Given the description of an element on the screen output the (x, y) to click on. 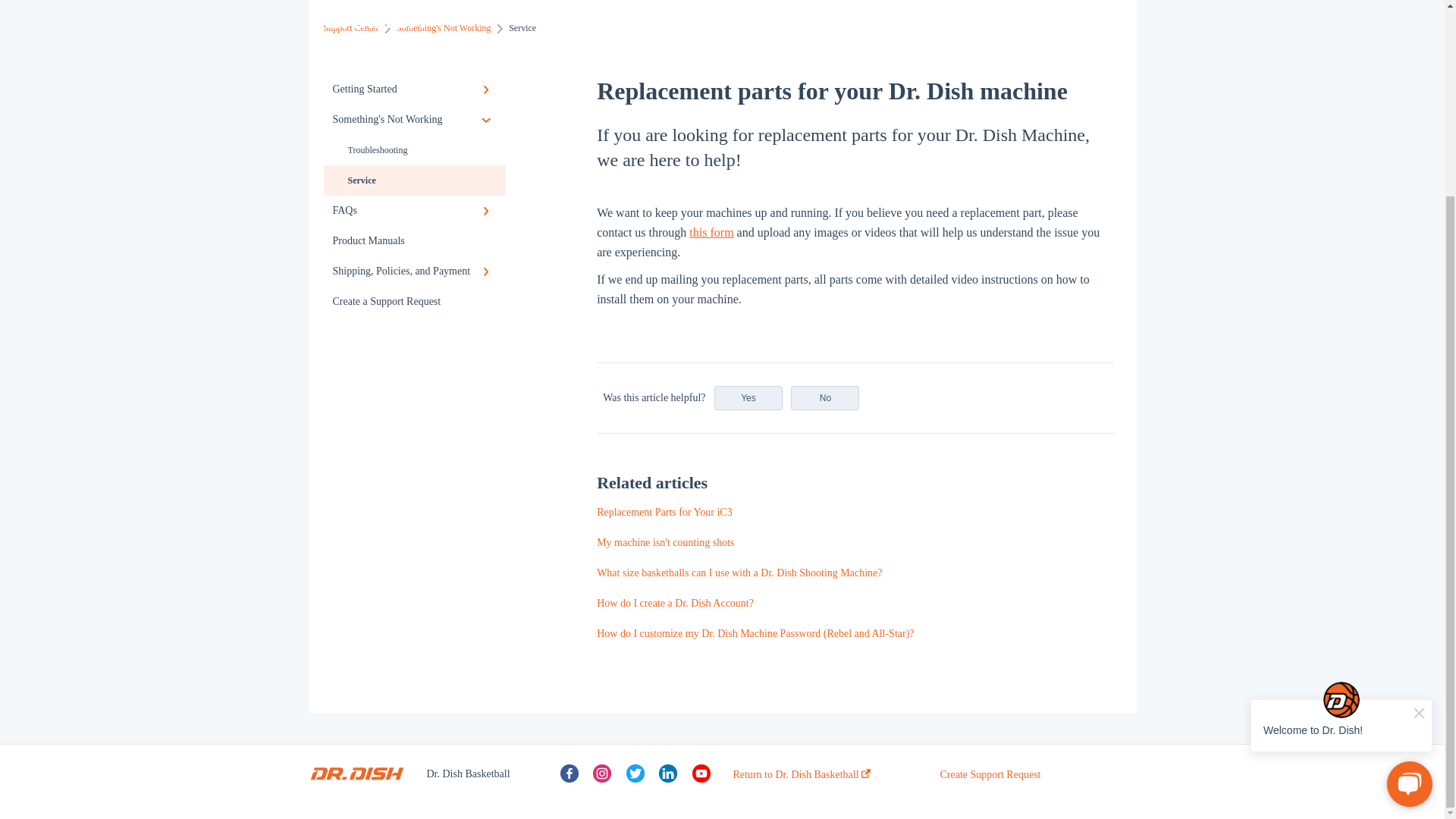
Product Manuals (414, 241)
Something's Not Working (443, 27)
FAQs (414, 210)
Shipping, Policies, and Payment (414, 271)
Support Center (350, 27)
Troubleshooting (414, 150)
Getting Started (414, 89)
Service (414, 180)
Something's Not Working (414, 119)
